Given the description of an element on the screen output the (x, y) to click on. 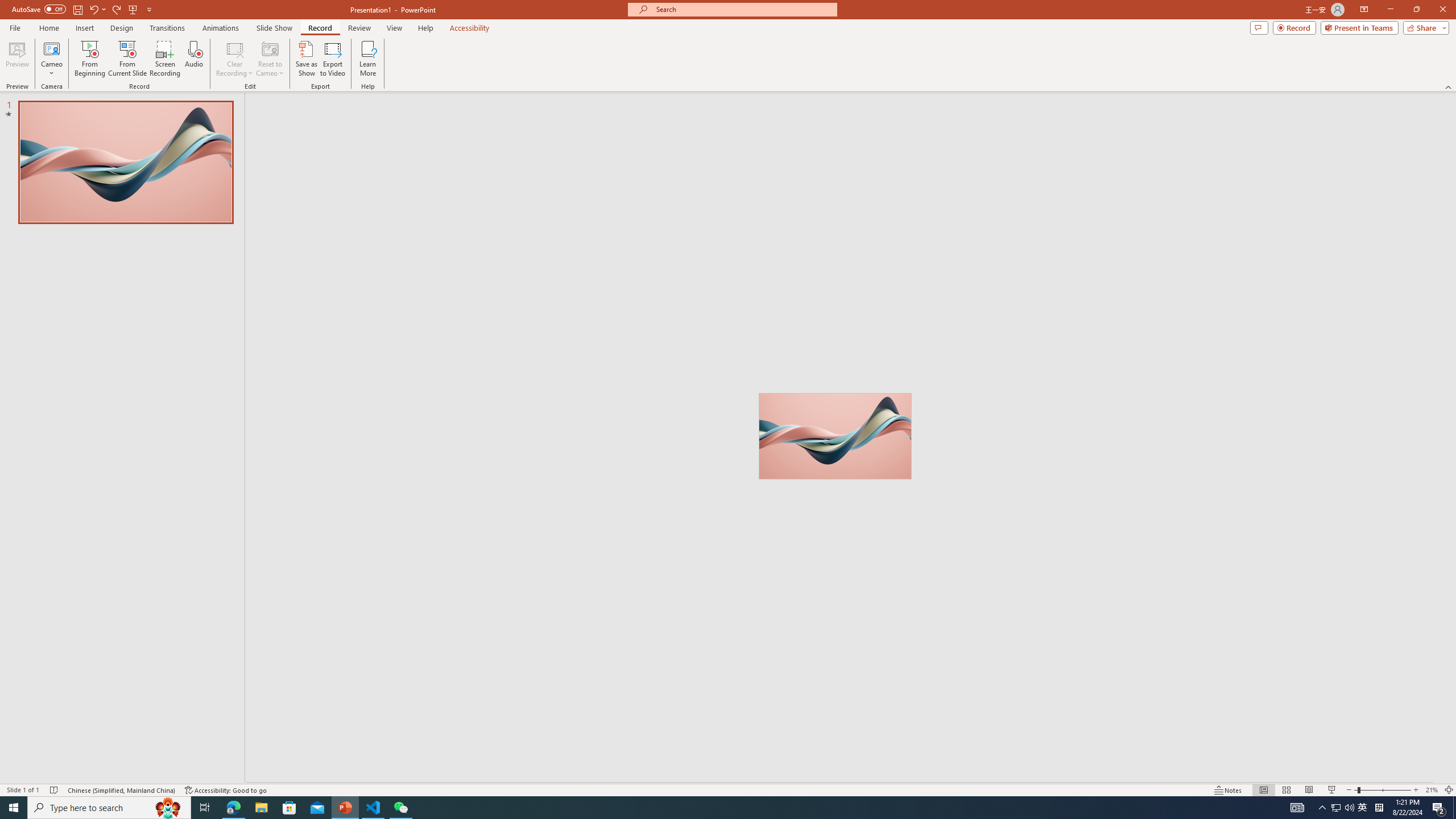
Reset to Cameo (269, 58)
